Given the description of an element on the screen output the (x, y) to click on. 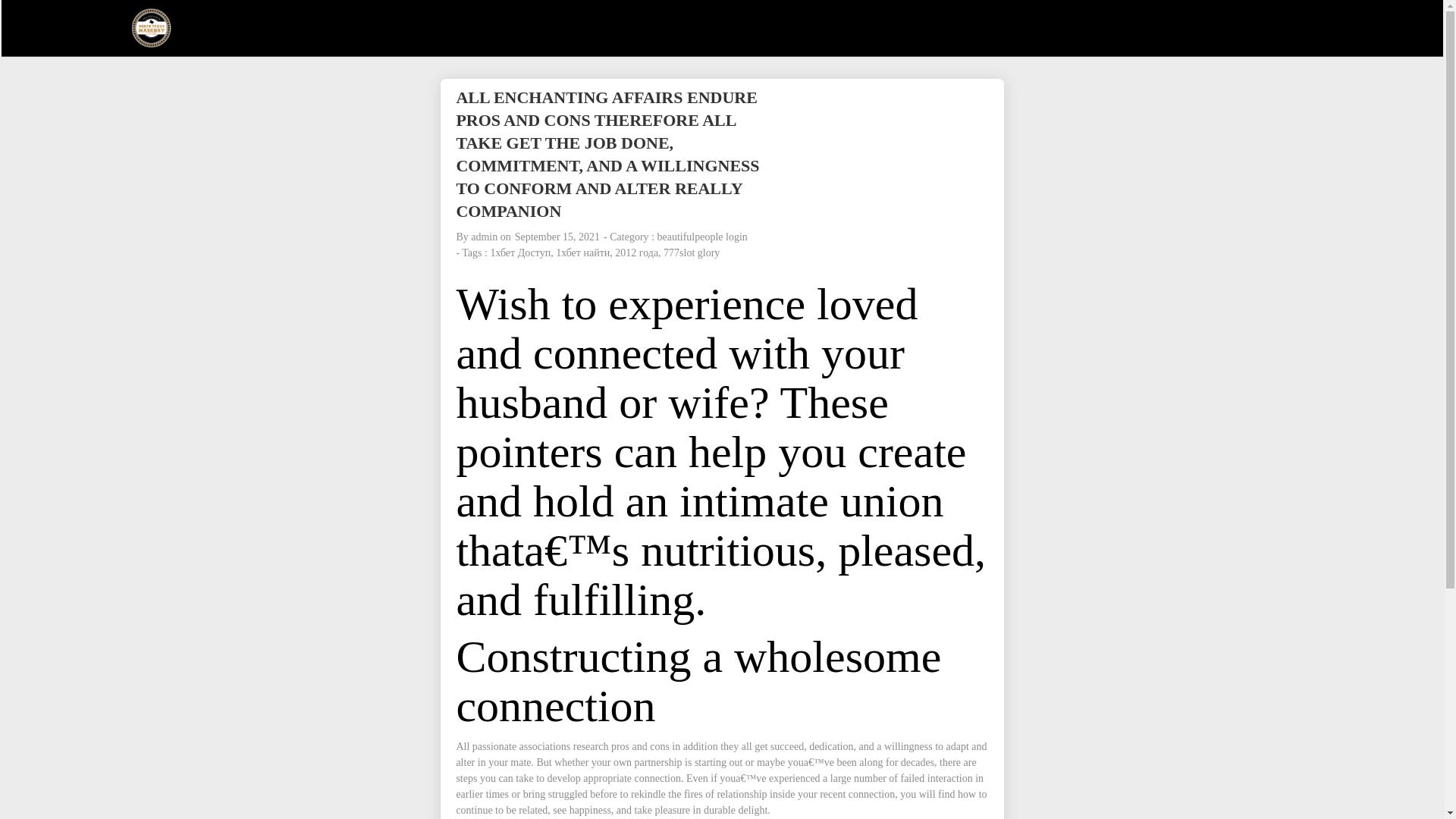
beautifulpeople login (701, 236)
beautifulpeople login (701, 236)
Posts by admin (483, 236)
September 15, 2021 (557, 236)
admin (483, 236)
